Given the description of an element on the screen output the (x, y) to click on. 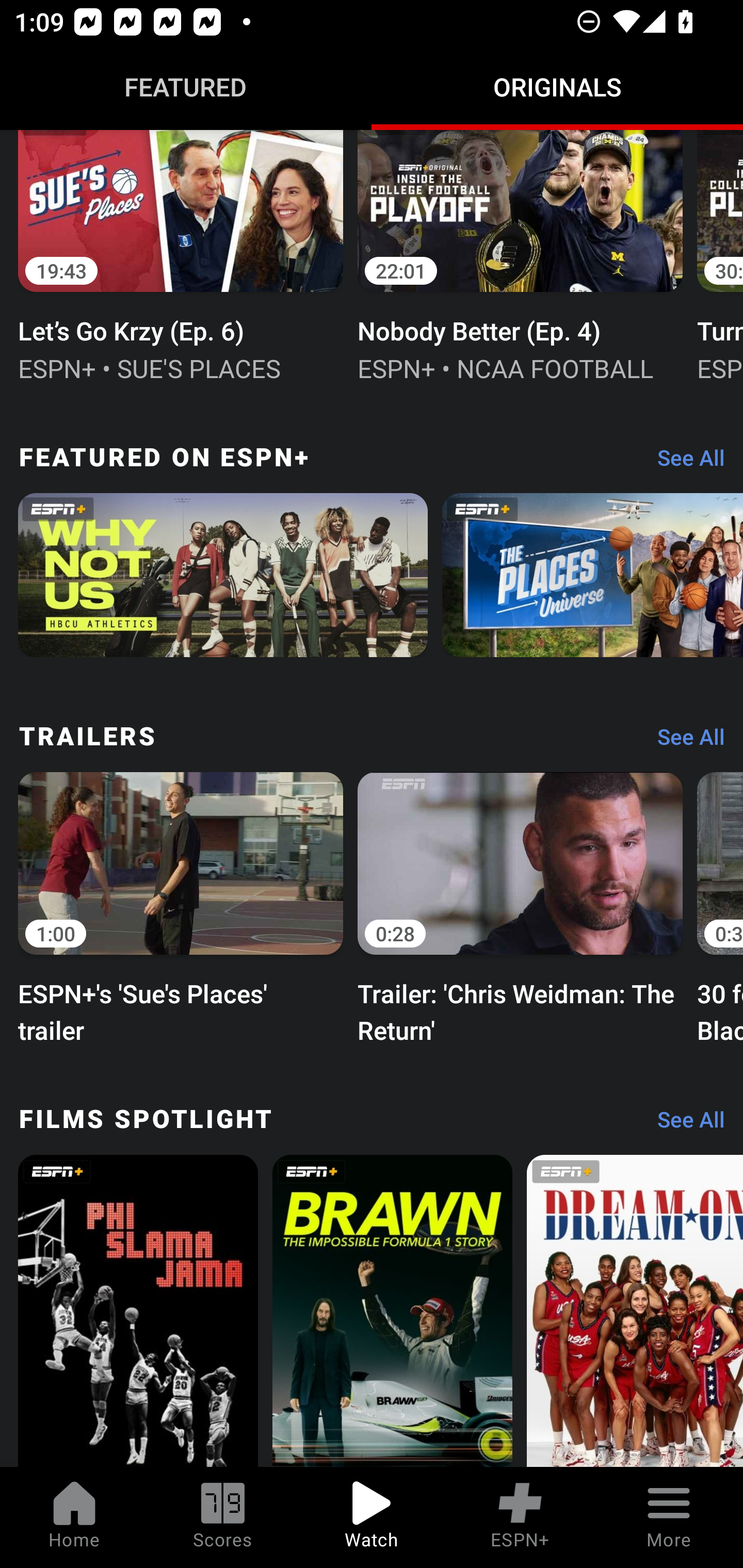
Featured FEATURED (185, 86)
19:43 Let’s Go Krzy (Ep. 6) ESPN+ • SUE'S PLACES (180, 257)
22:01 Nobody Better (Ep. 4) ESPN+ • NCAA FOOTBALL (519, 257)
See All (683, 462)
See All (683, 741)
1:00 ESPN+'s 'Sue's Places' trailer (180, 906)
0:28 Trailer: 'Chris Weidman: The Return' (519, 906)
See All (683, 1123)
Home (74, 1517)
Scores (222, 1517)
ESPN+ (519, 1517)
More (668, 1517)
